Given the description of an element on the screen output the (x, y) to click on. 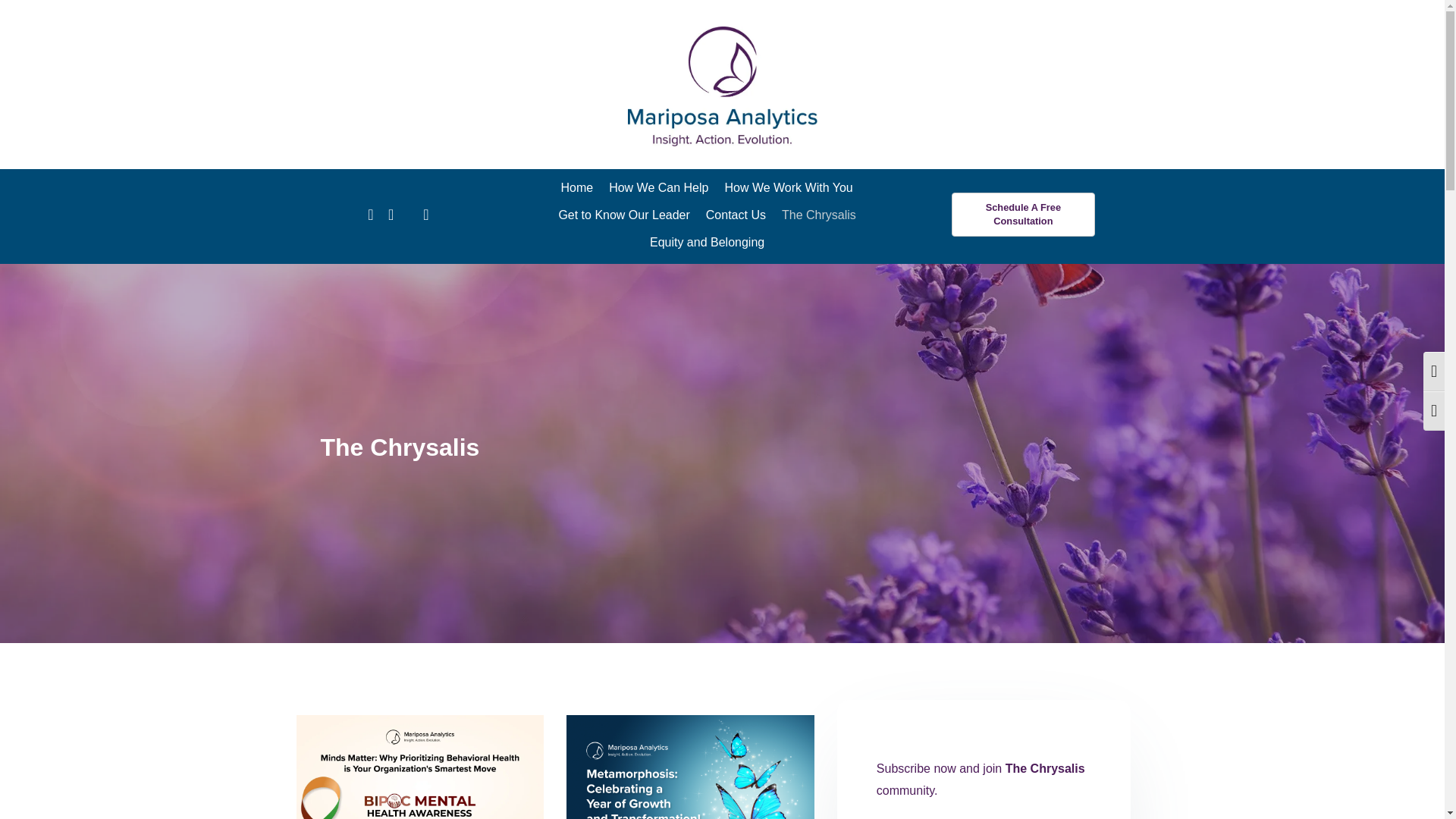
The Chrysalis (818, 215)
Equity and Belonging (706, 242)
How We Work With You (788, 187)
Schedule A Free Consultation (1023, 214)
Contact Us (735, 215)
Home (576, 187)
Get to Know Our Leader (623, 215)
How We Can Help (658, 187)
